Given the description of an element on the screen output the (x, y) to click on. 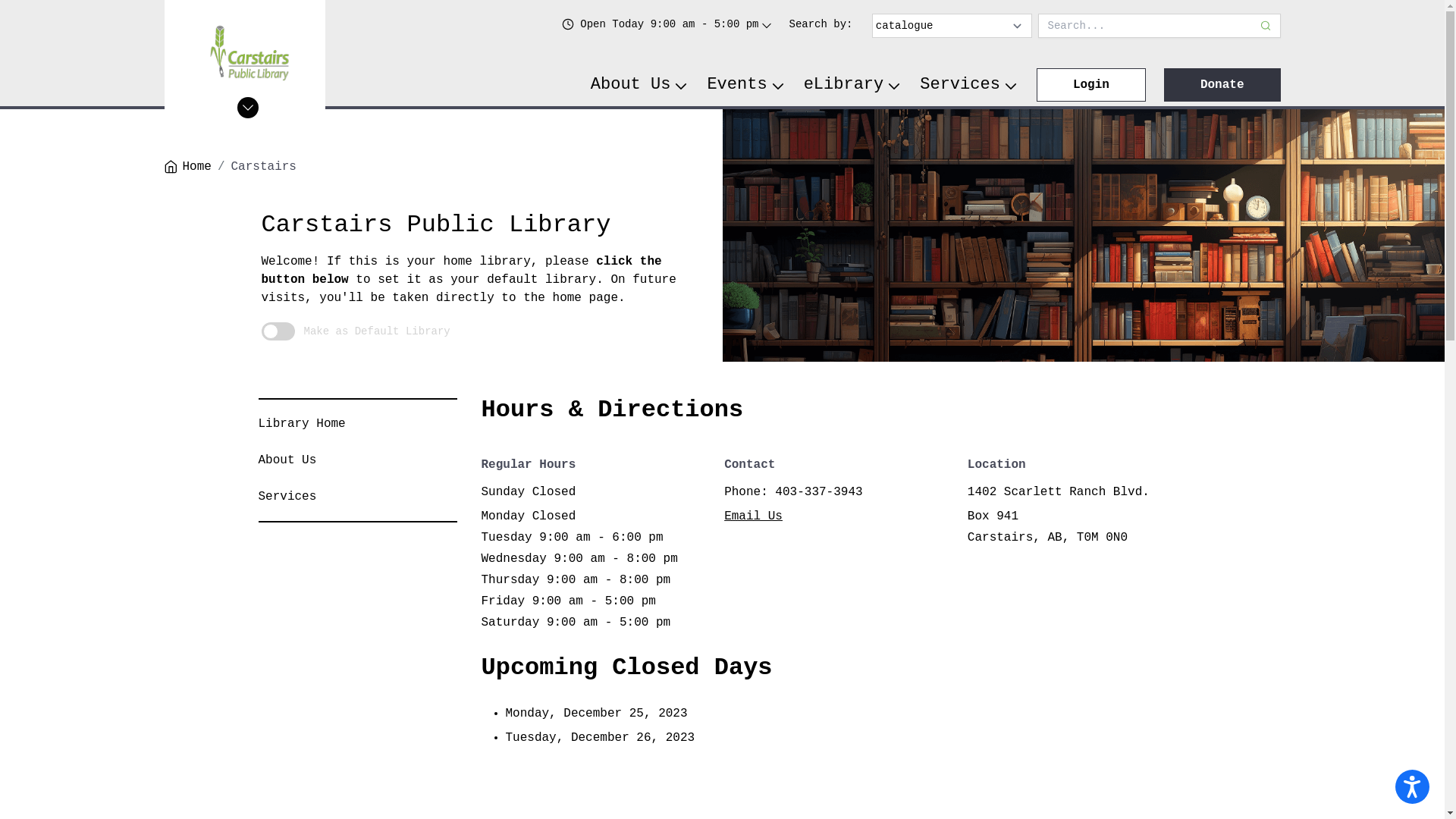
Services Element type: text (286, 496)
Donate Element type: text (1222, 84)
Email Us Element type: text (753, 516)
Login Element type: text (1090, 84)
Events Element type: text (745, 84)
Library Home Element type: text (301, 423)
About Us Element type: text (639, 84)
Carstairs Element type: text (263, 166)
Home Element type: text (186, 166)
Services Element type: text (968, 84)
About Us Element type: text (286, 460)
eLibrary Element type: text (852, 84)
